Given the description of an element on the screen output the (x, y) to click on. 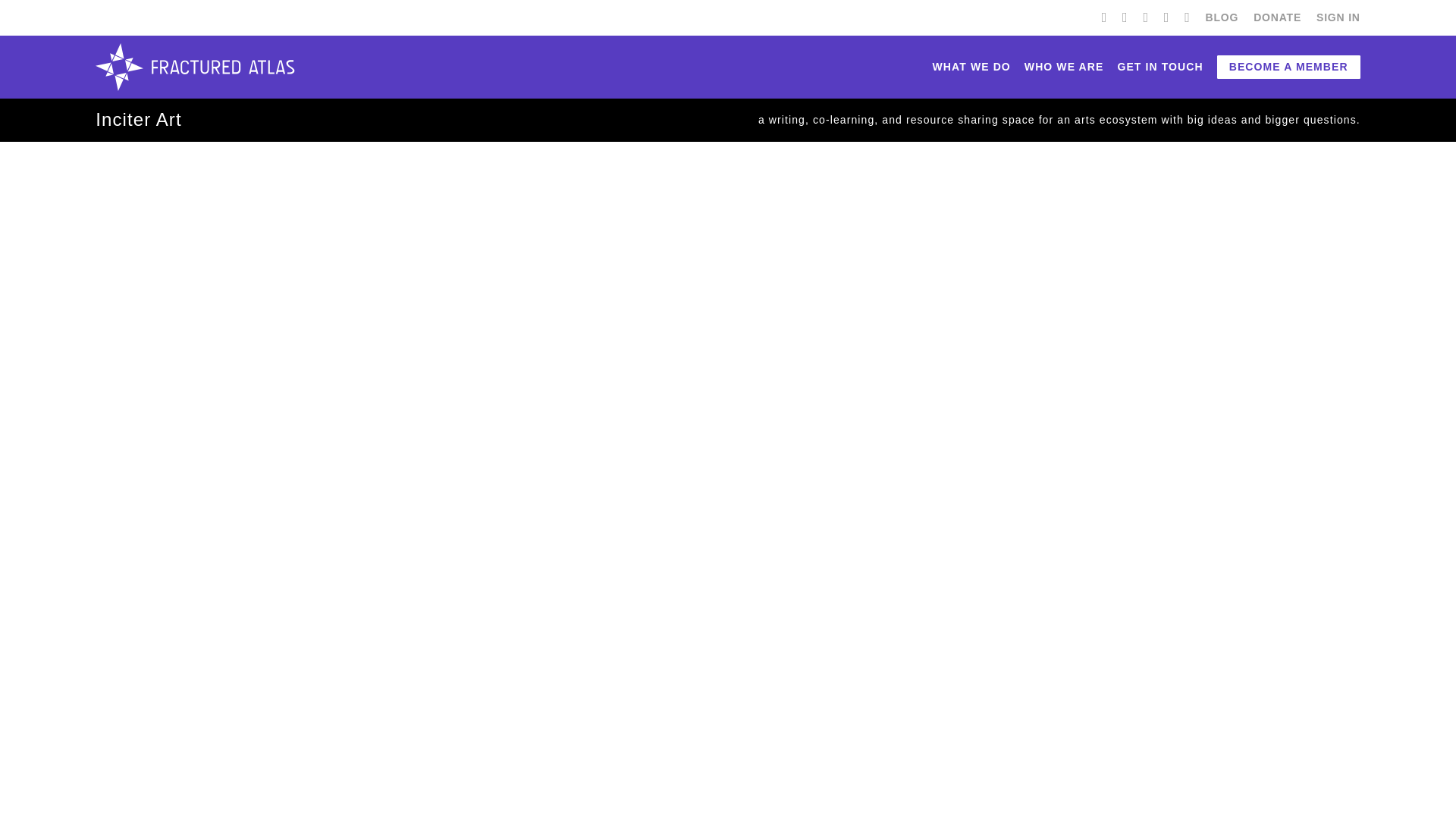
WHAT WE DO (971, 67)
WHO WE ARE (1064, 67)
SIGN IN (1337, 17)
Visit our Facebook page (1104, 17)
Fractured Atlas (195, 66)
Fractured Atlas (195, 66)
DONATE (1277, 17)
Check out our Instagram (1166, 17)
Visit our Facebook page (1104, 17)
Check out our latest tweets (1125, 17)
